Given the description of an element on the screen output the (x, y) to click on. 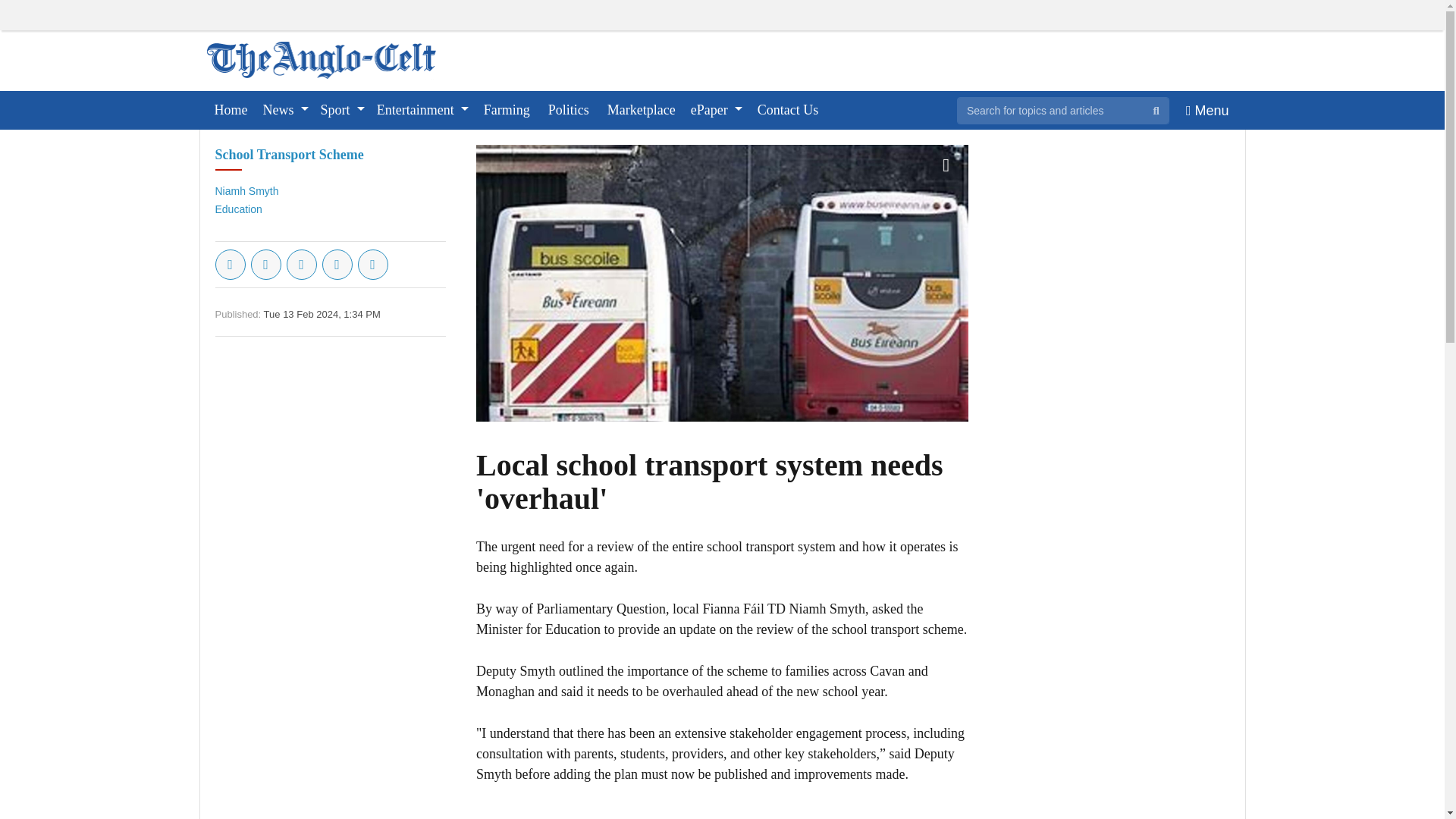
News (285, 109)
Sport (342, 109)
Menu (1207, 109)
ePaper (716, 109)
Entertainment (422, 109)
